Given the description of an element on the screen output the (x, y) to click on. 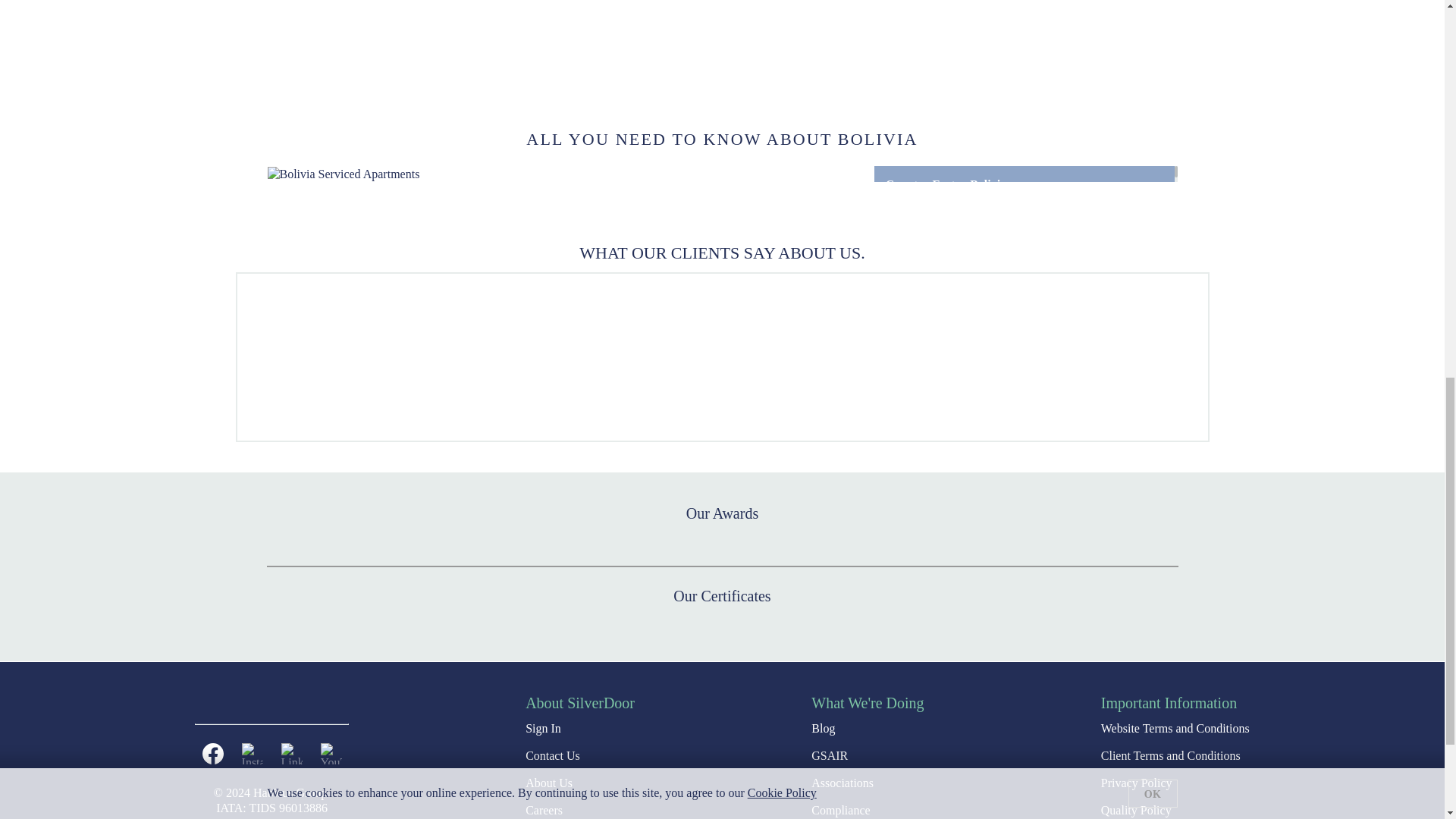
Customer reviews powered by Trustpilot (721, 356)
